Given the description of an element on the screen output the (x, y) to click on. 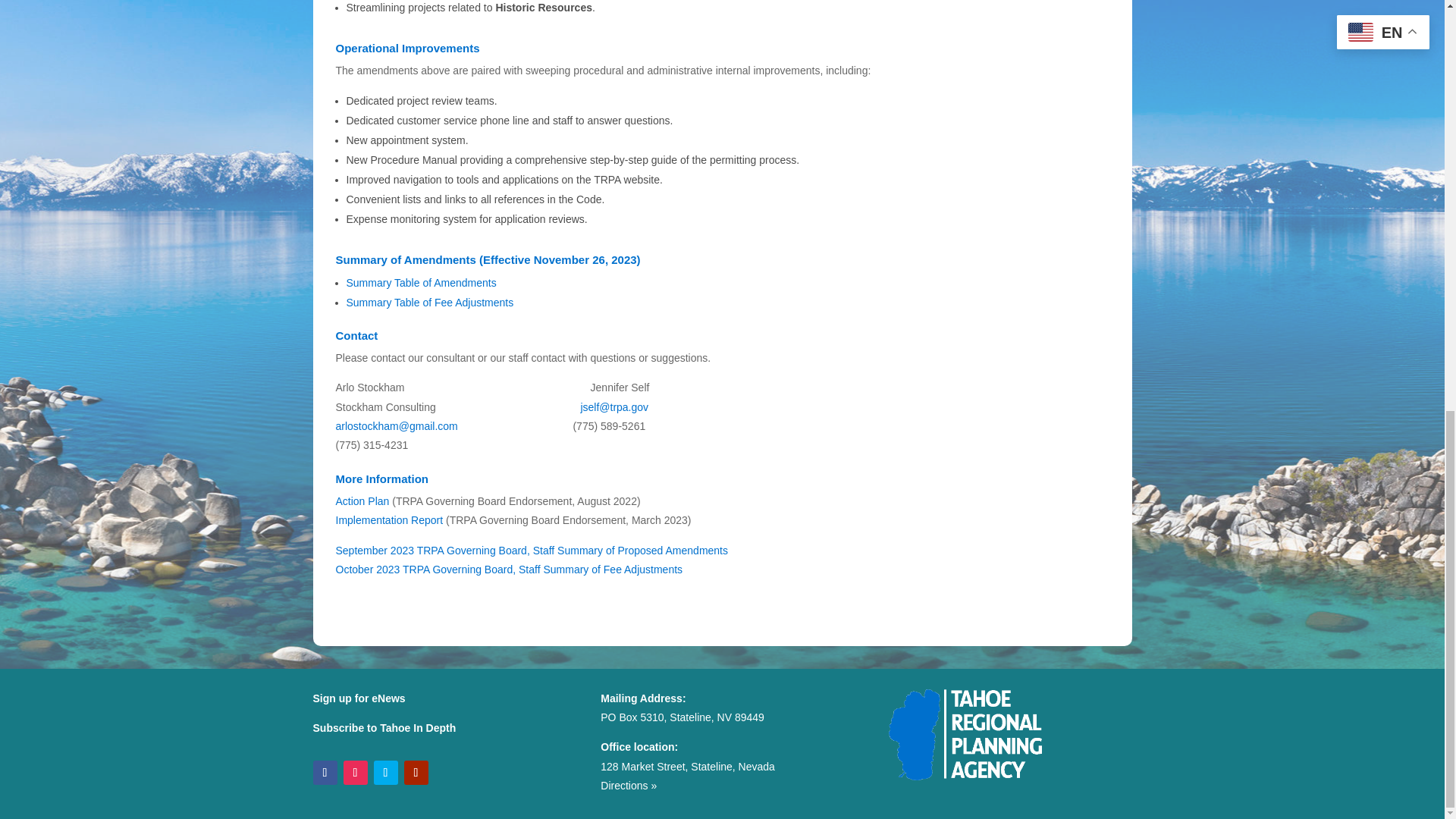
Follow on Twitter (384, 772)
Follow on Instagram (354, 772)
Follow on Youtube (415, 772)
Follow on Facebook (324, 772)
